Given the description of an element on the screen output the (x, y) to click on. 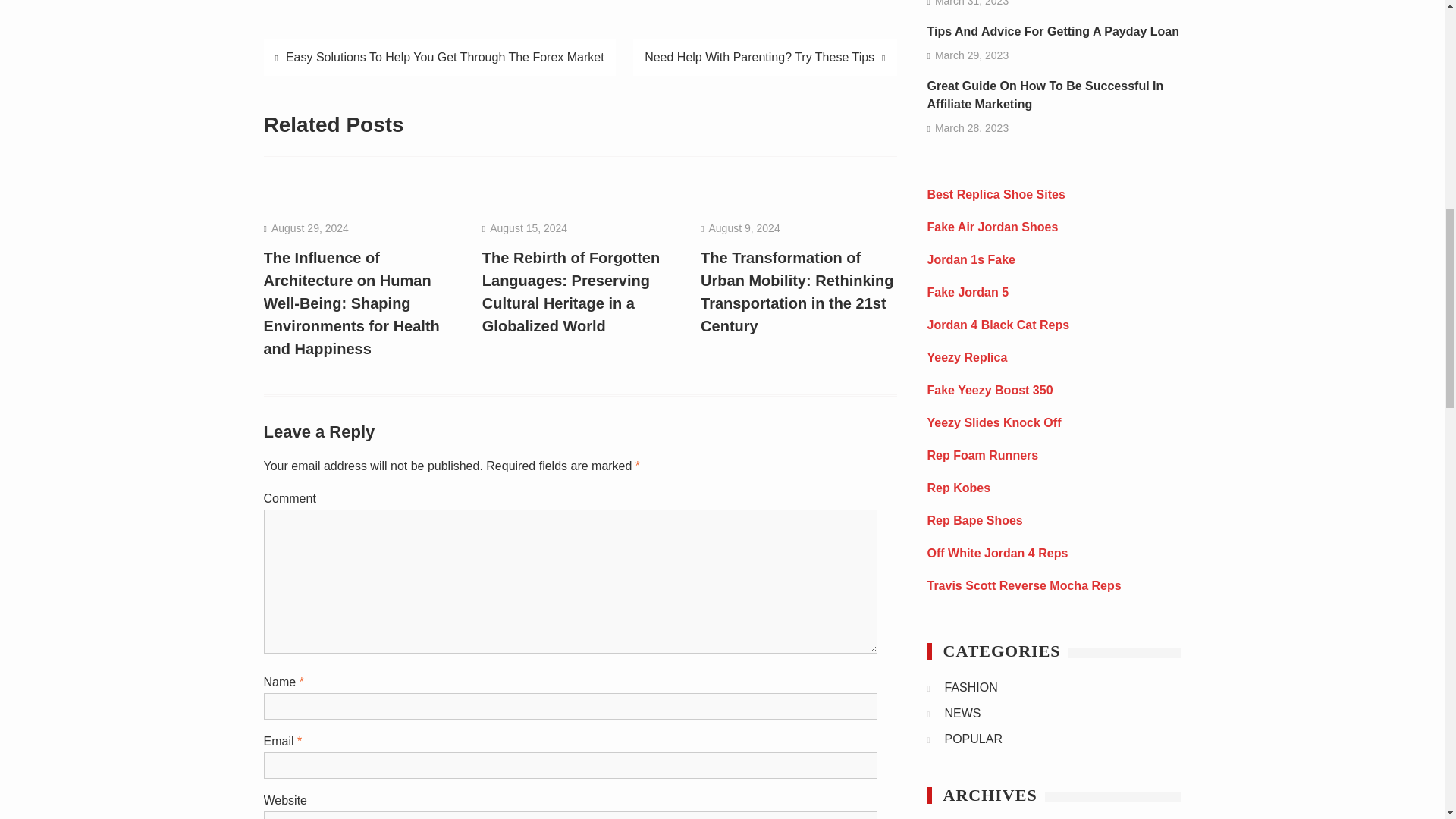
Easy Solutions To Help You Get Through The Forex Market (439, 57)
Need Help With Parenting? Try These Tips (764, 57)
